Given the description of an element on the screen output the (x, y) to click on. 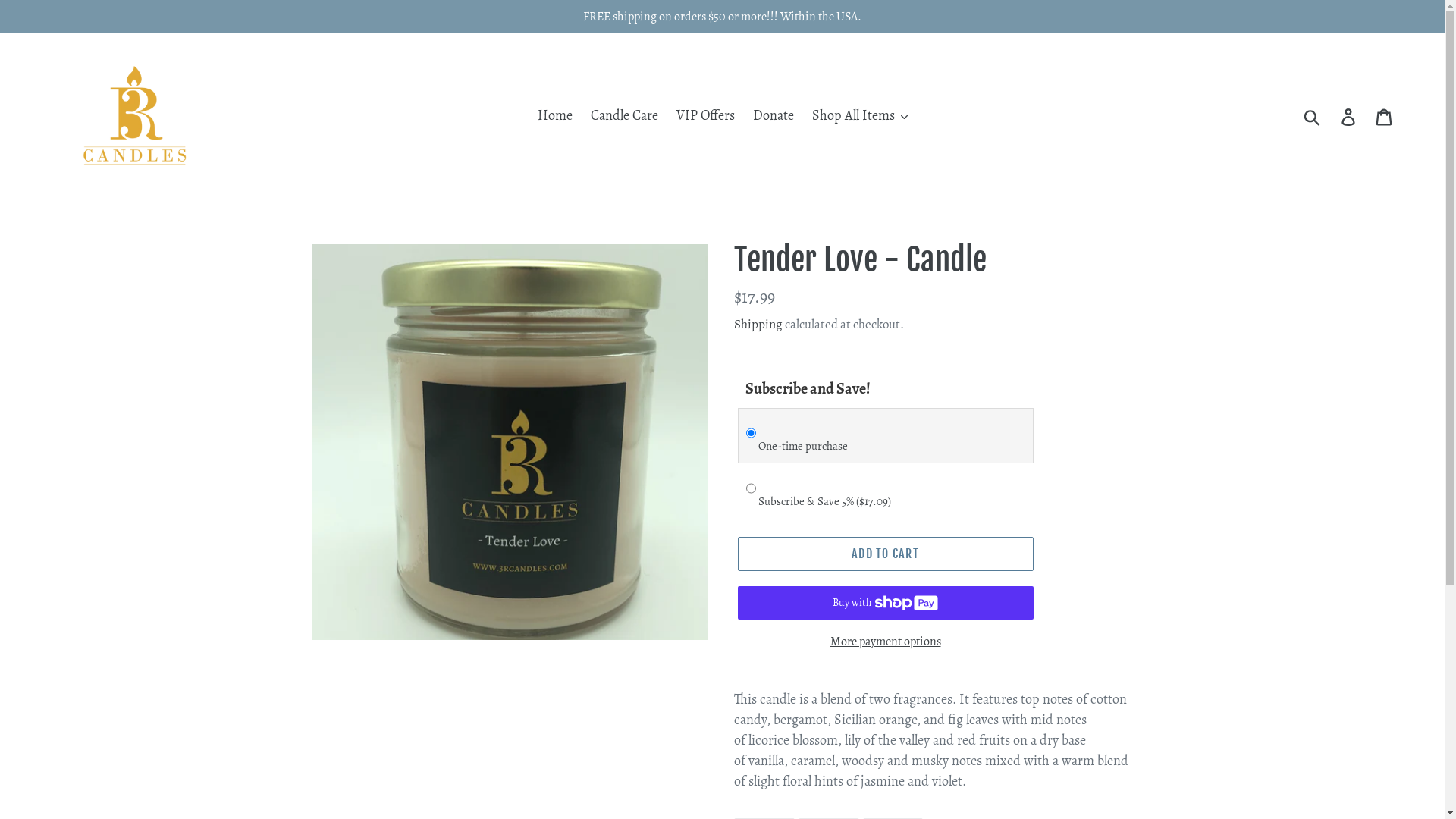
Donate Element type: text (772, 115)
Submit Element type: text (1312, 115)
ADD TO CART Element type: text (884, 553)
More payment options Element type: text (884, 641)
VIP Offers Element type: text (705, 115)
Candle Care Element type: text (623, 115)
Home Element type: text (554, 115)
Cart Element type: text (1384, 115)
Log in Element type: text (1349, 115)
Shipping Element type: text (758, 324)
